Given the description of an element on the screen output the (x, y) to click on. 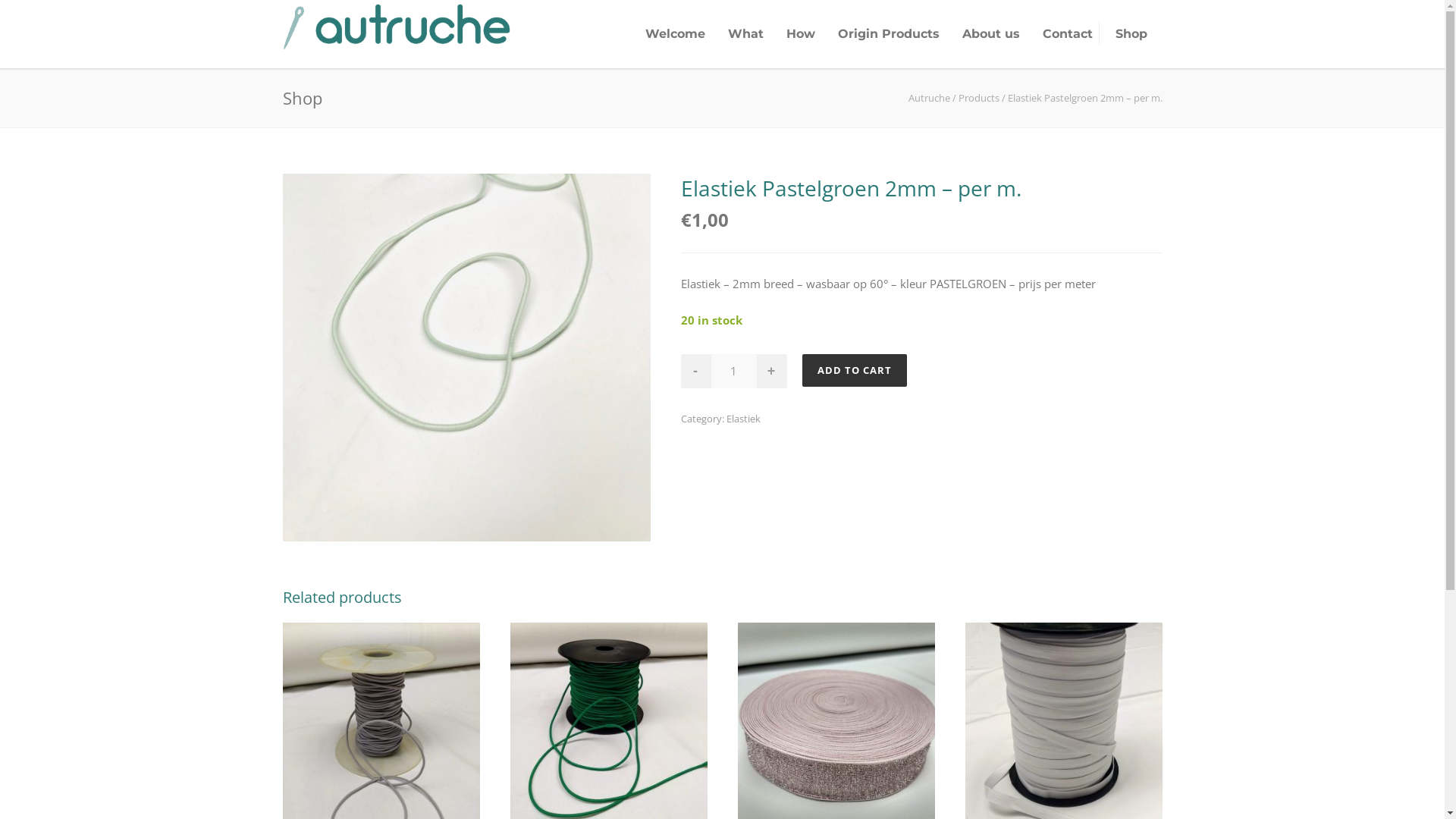
Contact Element type: text (1067, 33)
About us Element type: text (990, 33)
ADD TO CART Element type: text (854, 370)
What Element type: text (744, 33)
Shop Element type: text (1131, 33)
How Element type: text (800, 33)
Autruche Element type: text (929, 97)
PASTELBLAUW Element type: hover (465, 357)
- Element type: text (695, 371)
+ Element type: text (771, 371)
Products Element type: text (978, 97)
Origin Products Element type: text (888, 33)
Elastiek Element type: text (743, 418)
Welcome Element type: text (674, 33)
Qty Element type: hover (733, 371)
